Given the description of an element on the screen output the (x, y) to click on. 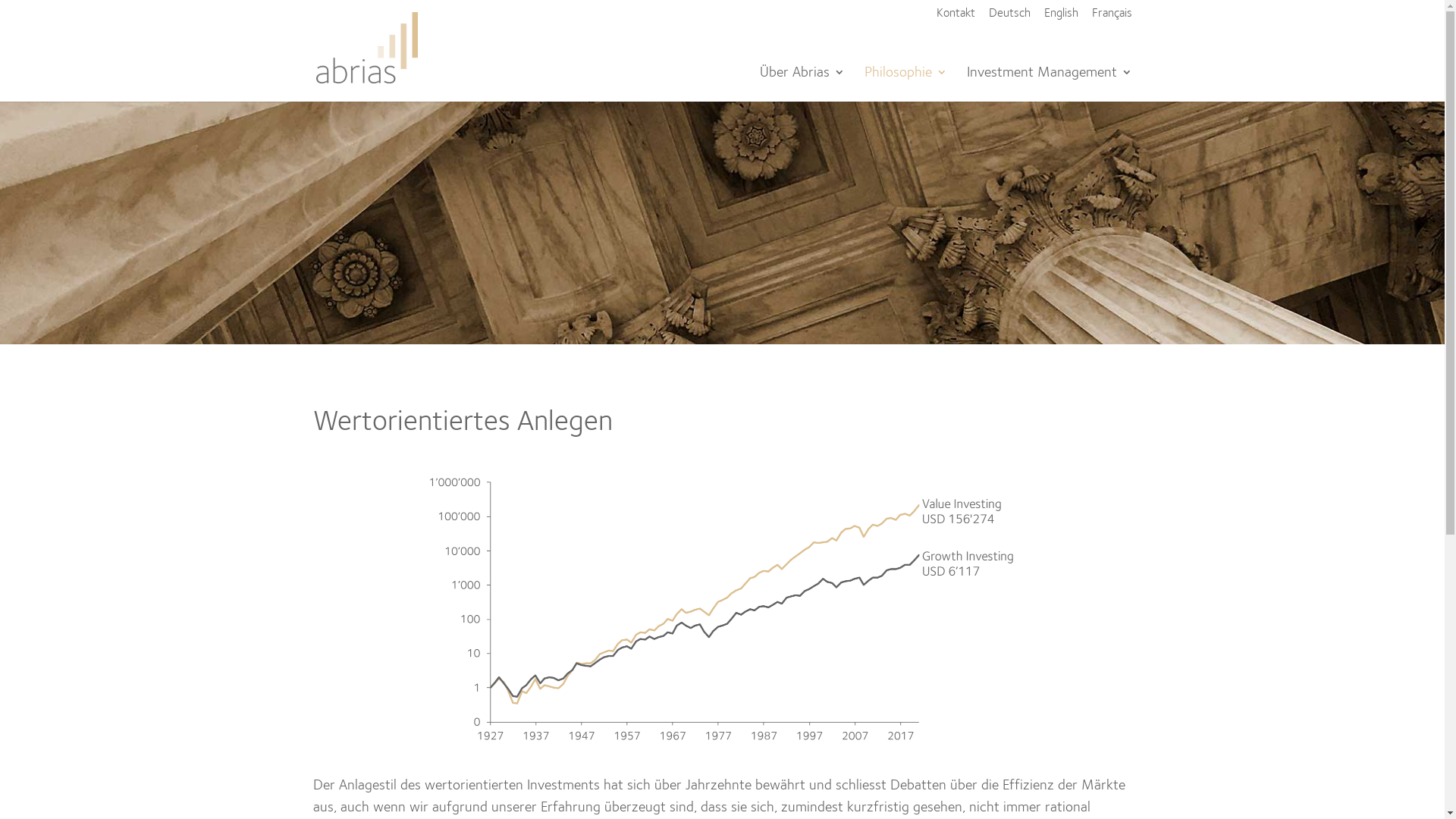
Investment Management Element type: text (1048, 83)
Philosophie Element type: text (905, 83)
Deutsch Element type: text (1009, 18)
Kontakt Element type: text (954, 18)
English Element type: text (1060, 18)
Value Investing vs. Growth Investing Element type: hover (721, 608)
